Given the description of an element on the screen output the (x, y) to click on. 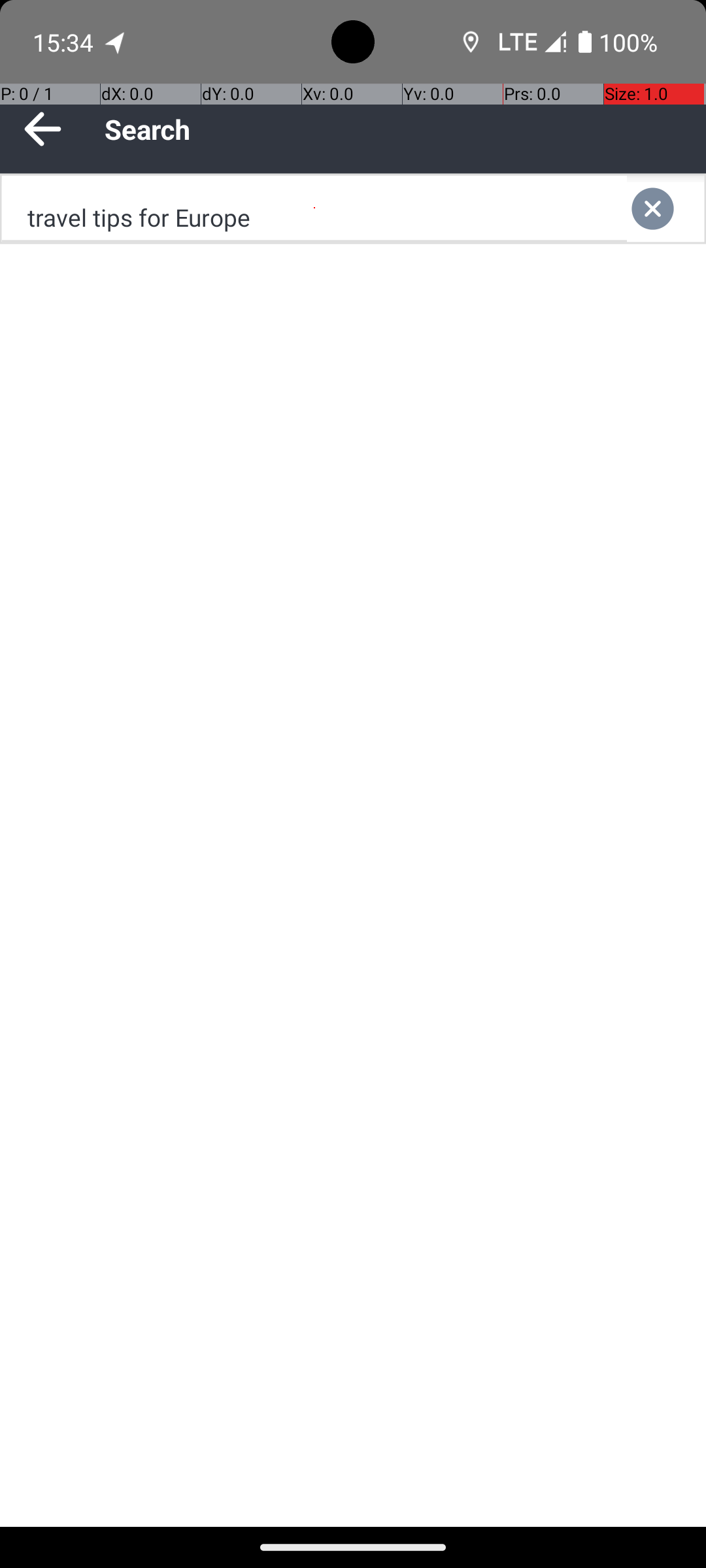
travel tips for Europe Element type: android.widget.EditText (313, 208)
 Element type: android.widget.TextView (665, 208)
